Given the description of an element on the screen output the (x, y) to click on. 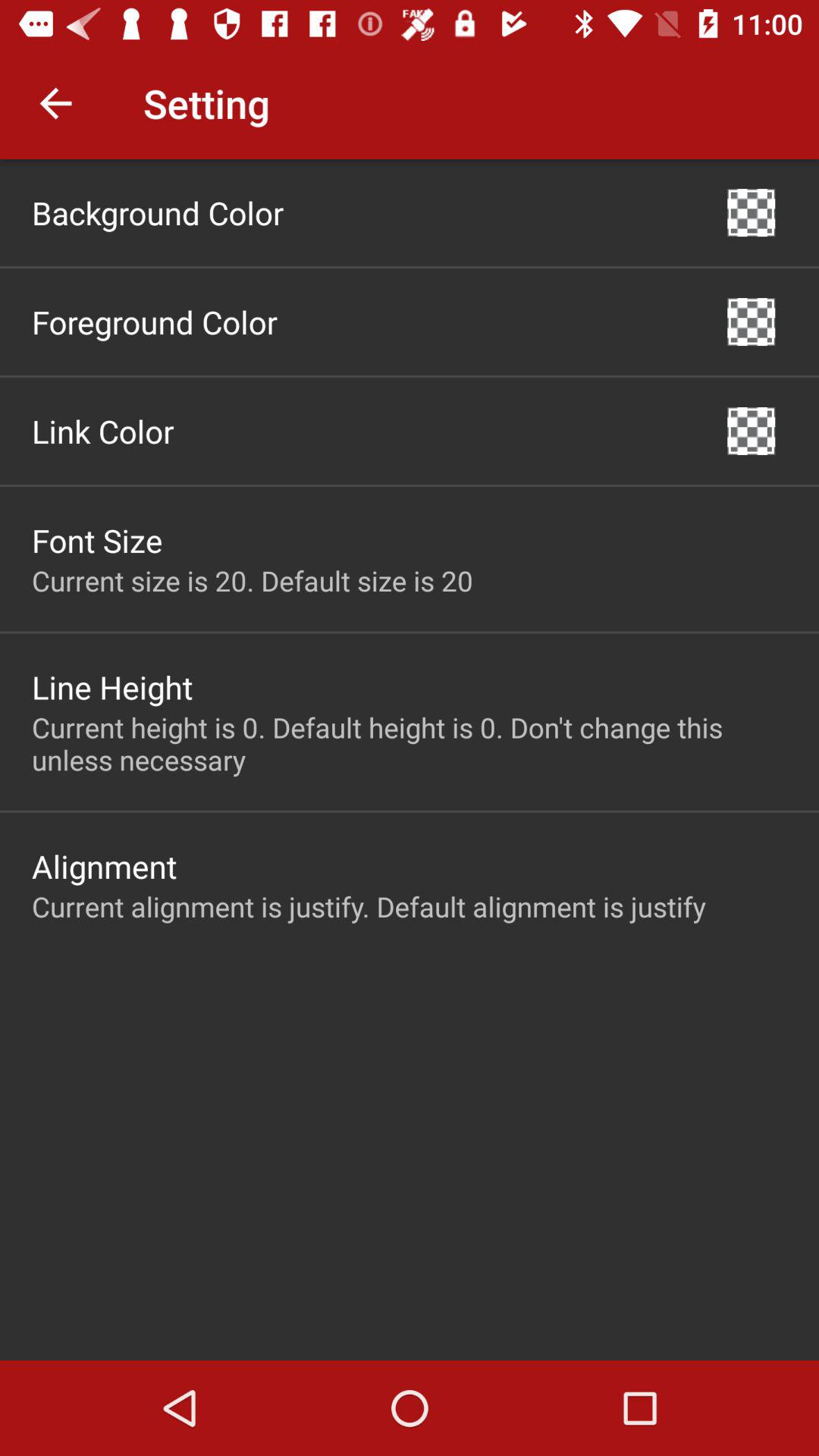
press the line height icon (111, 686)
